Given the description of an element on the screen output the (x, y) to click on. 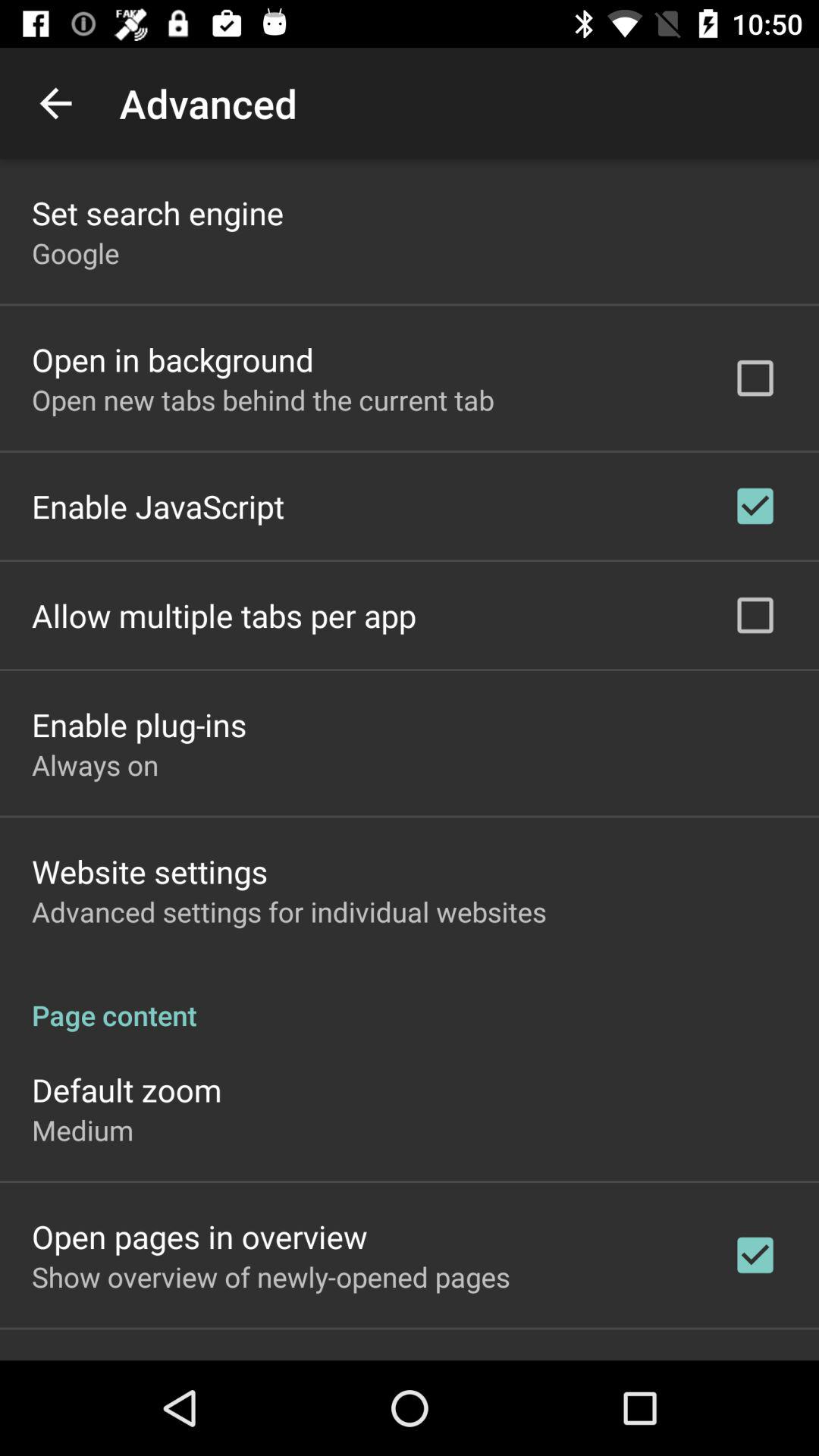
select the google app (75, 252)
